Given the description of an element on the screen output the (x, y) to click on. 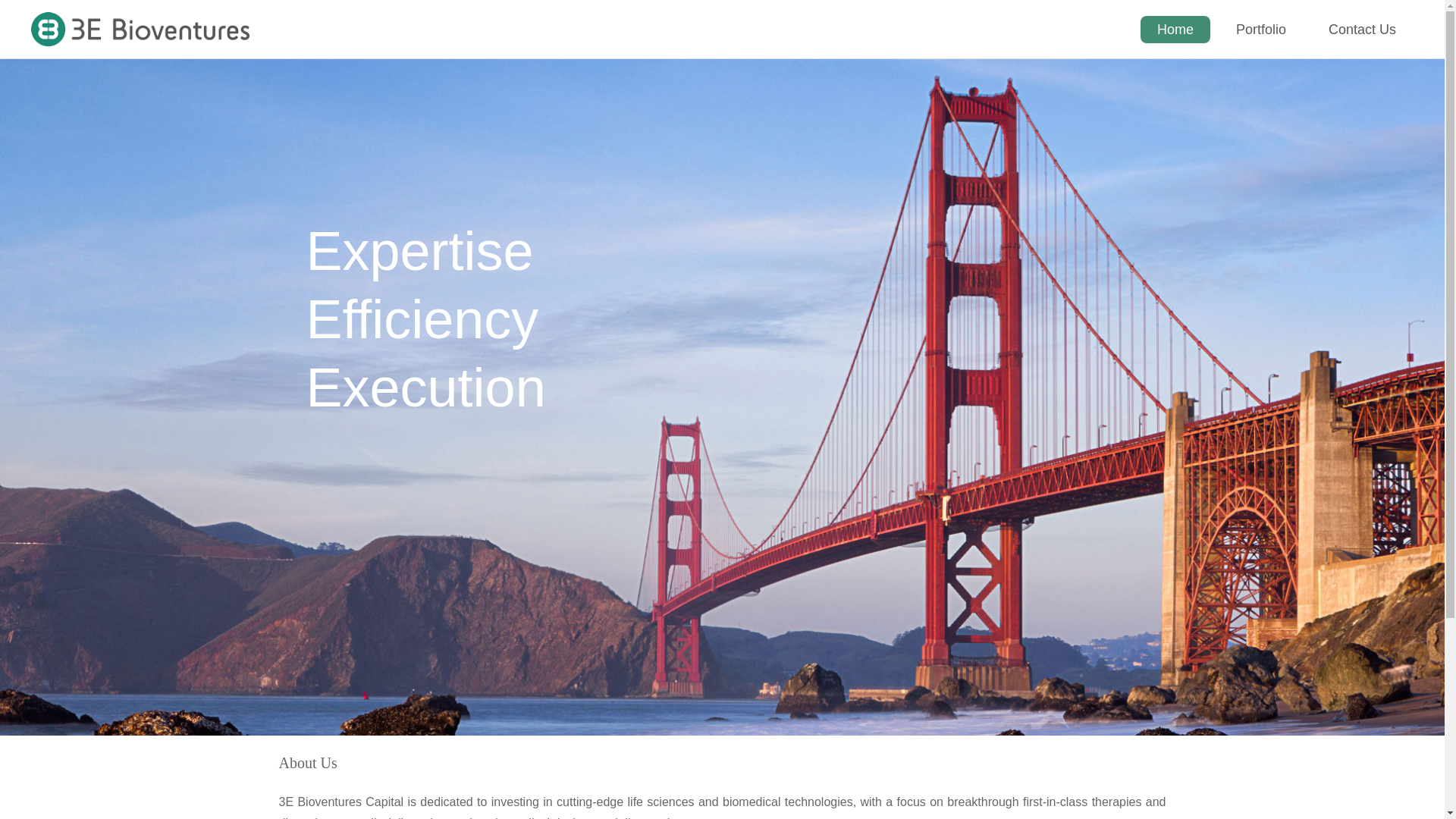
Contact Us Element type: text (1361, 29)
Portfolio Element type: text (1260, 29)
Home Element type: text (1175, 29)
